Given the description of an element on the screen output the (x, y) to click on. 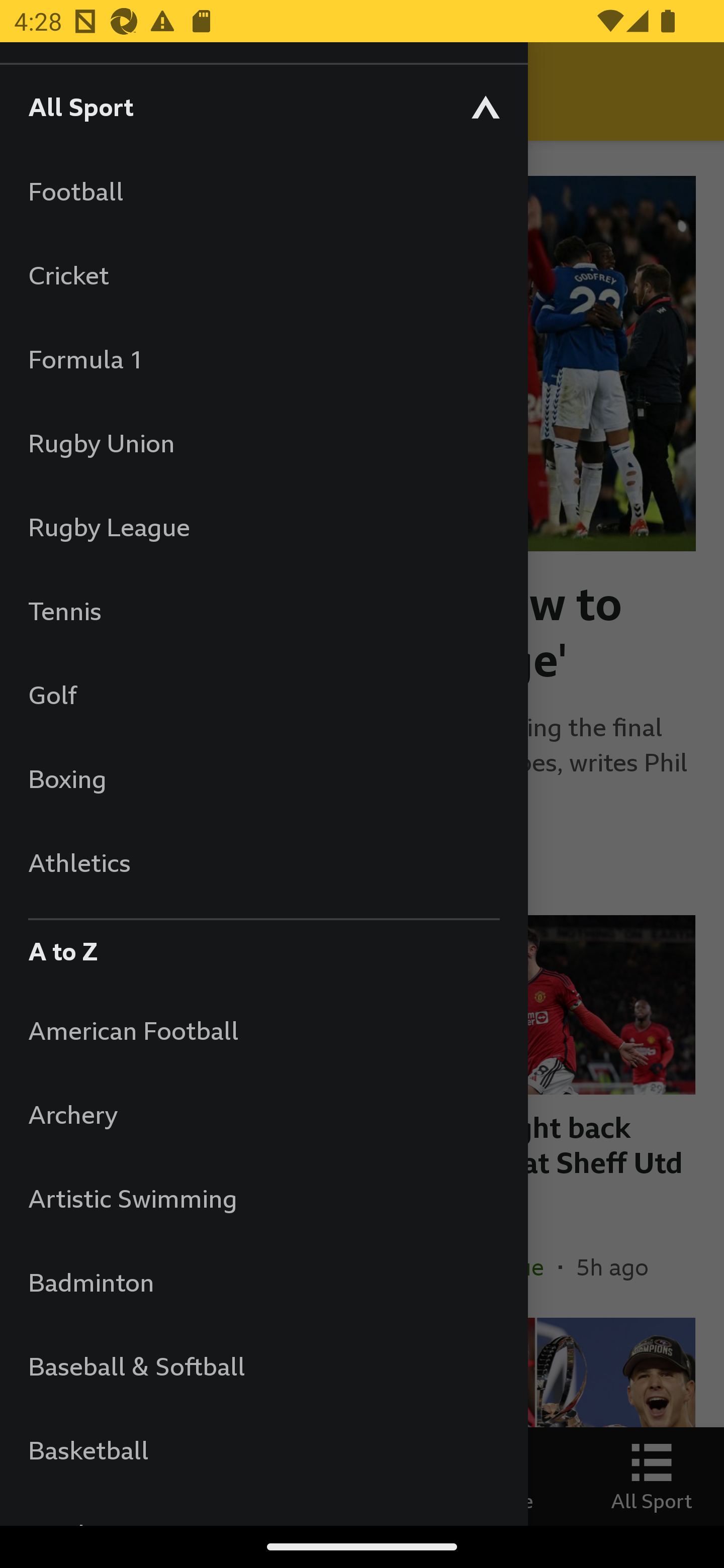
All Sport (263, 105)
Football (263, 190)
Cricket (263, 274)
Formula 1 (263, 358)
Rugby Union (263, 441)
Rugby League (263, 526)
Tennis (263, 609)
Golf (263, 694)
Boxing (263, 778)
Athletics (263, 862)
A to Z (263, 945)
American Football (263, 1029)
Archery (263, 1114)
Artistic Swimming (263, 1197)
Badminton (263, 1282)
Baseball & Softball (263, 1365)
Basketball (263, 1450)
